Given the description of an element on the screen output the (x, y) to click on. 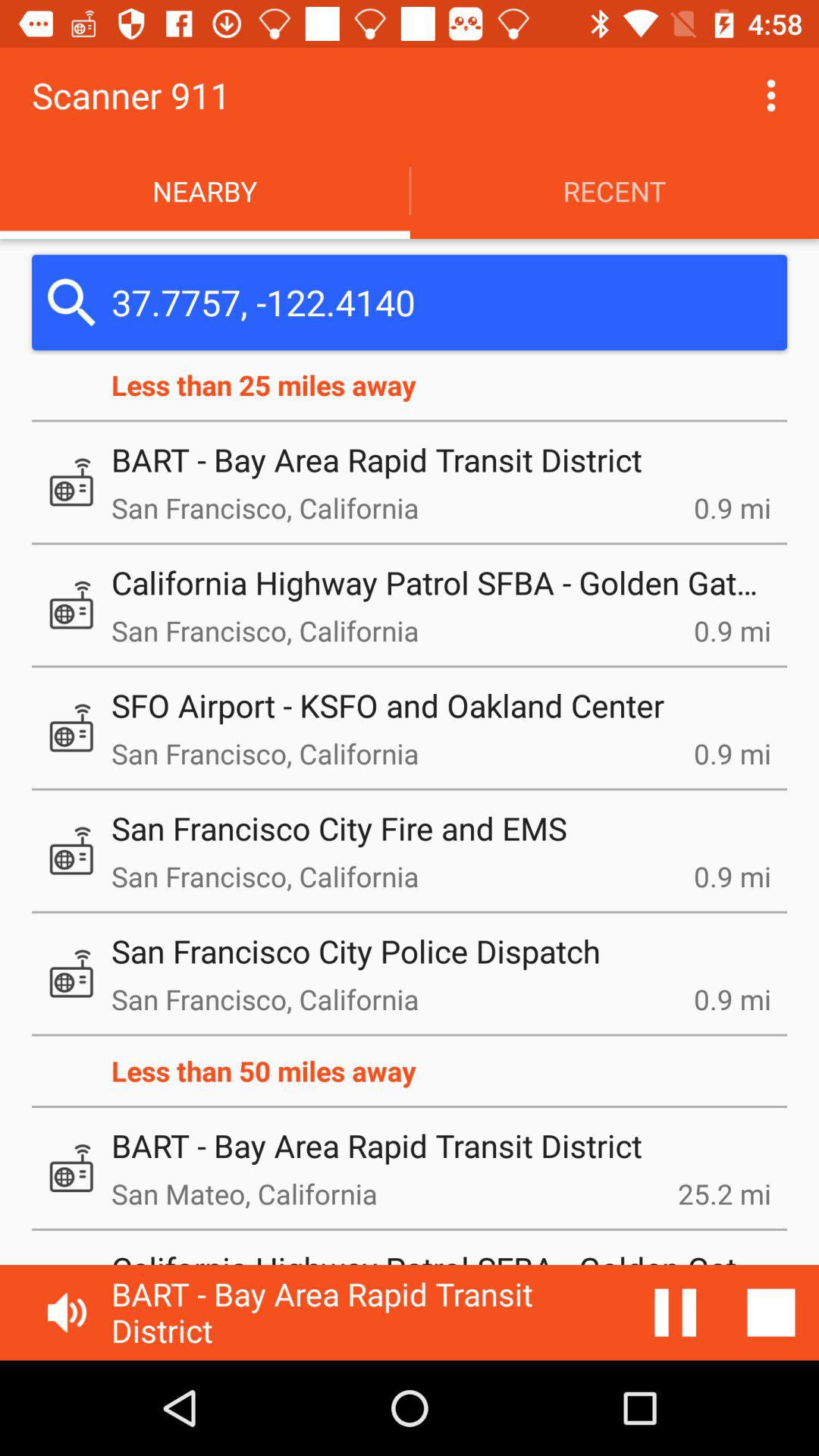
stop (675, 1312)
